Given the description of an element on the screen output the (x, y) to click on. 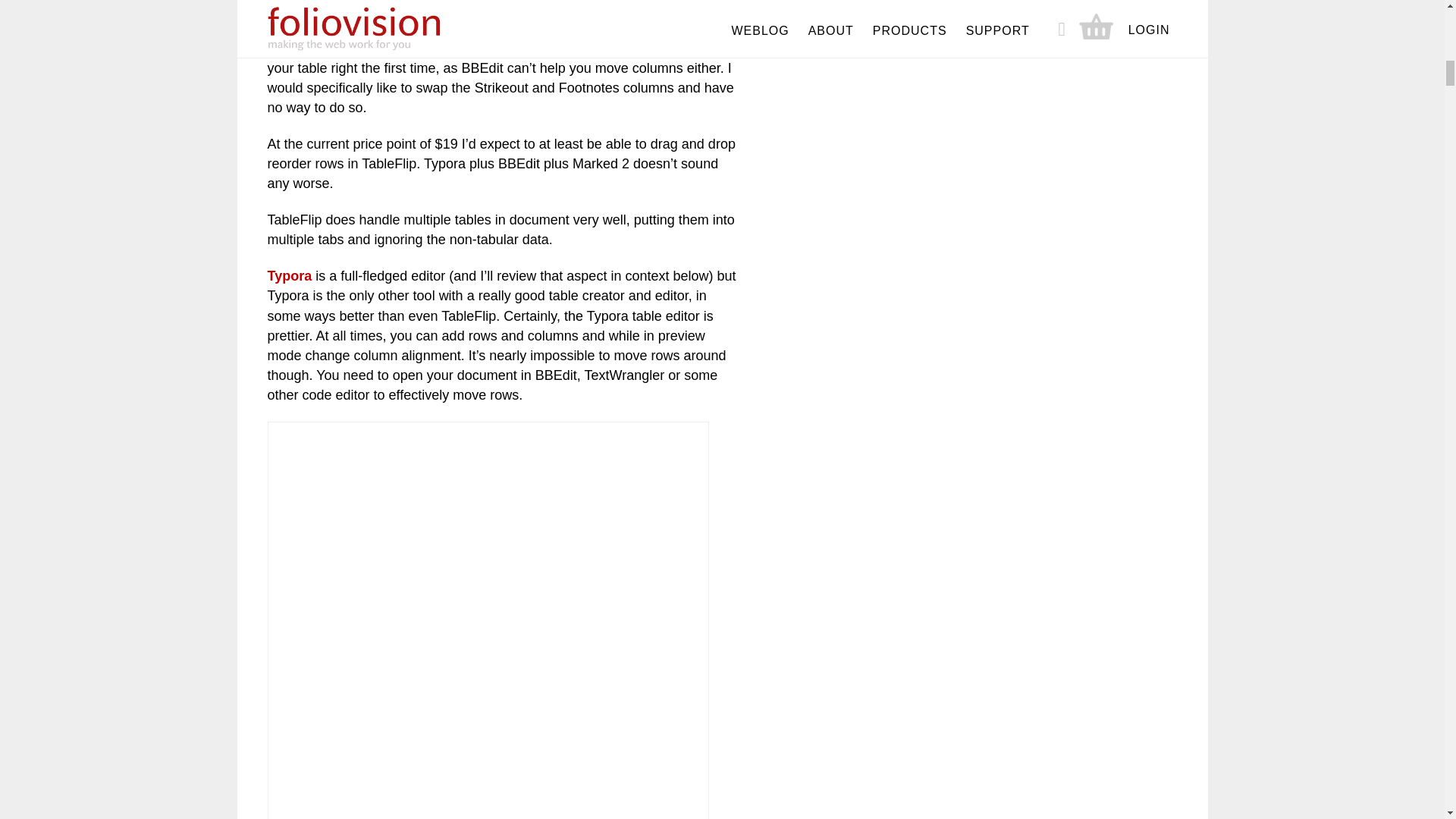
Typora (288, 275)
